Given the description of an element on the screen output the (x, y) to click on. 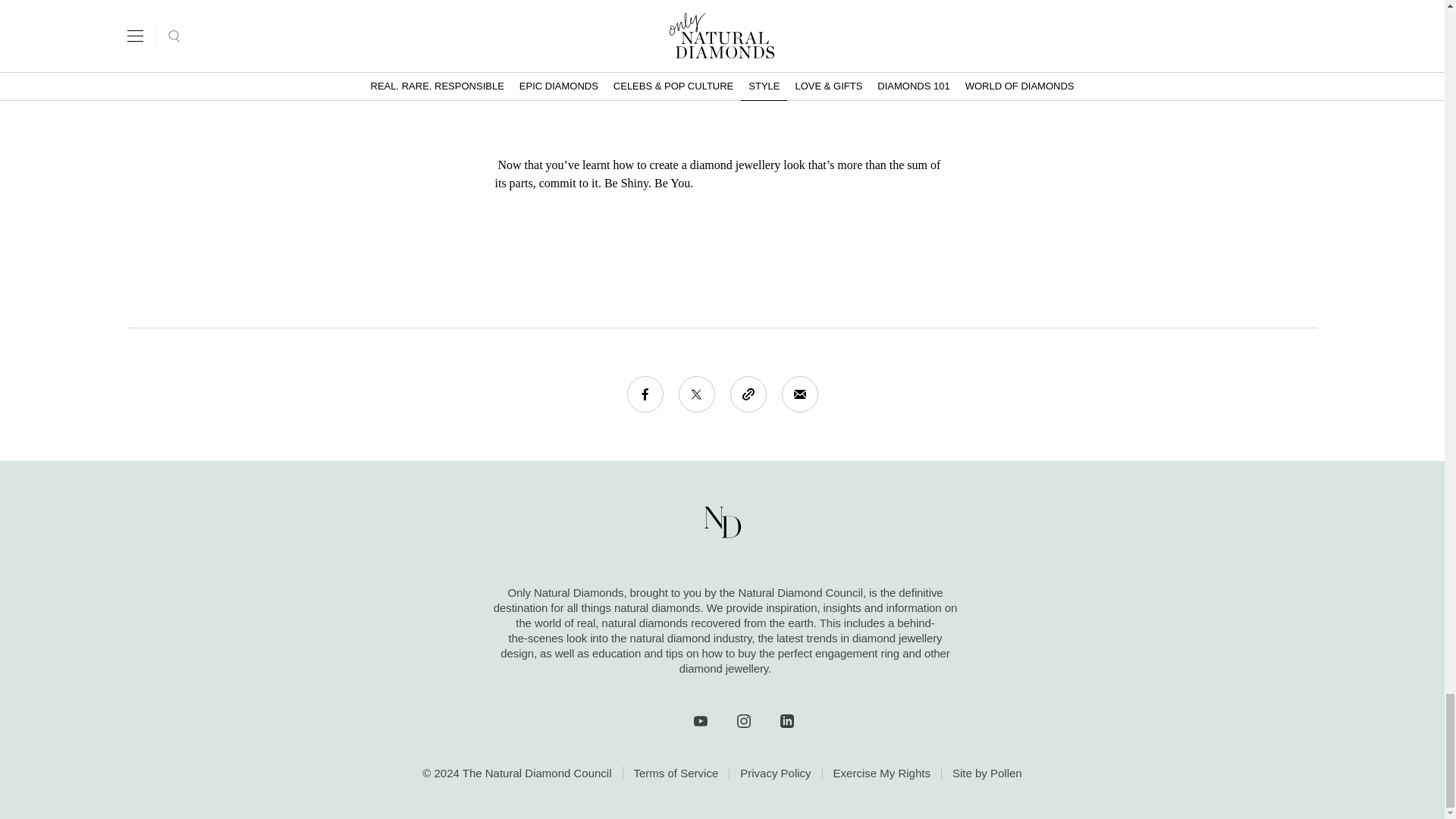
Email this page (798, 393)
Clipboard (747, 393)
Share on Facebook (644, 393)
Tweet This (696, 393)
